Given the description of an element on the screen output the (x, y) to click on. 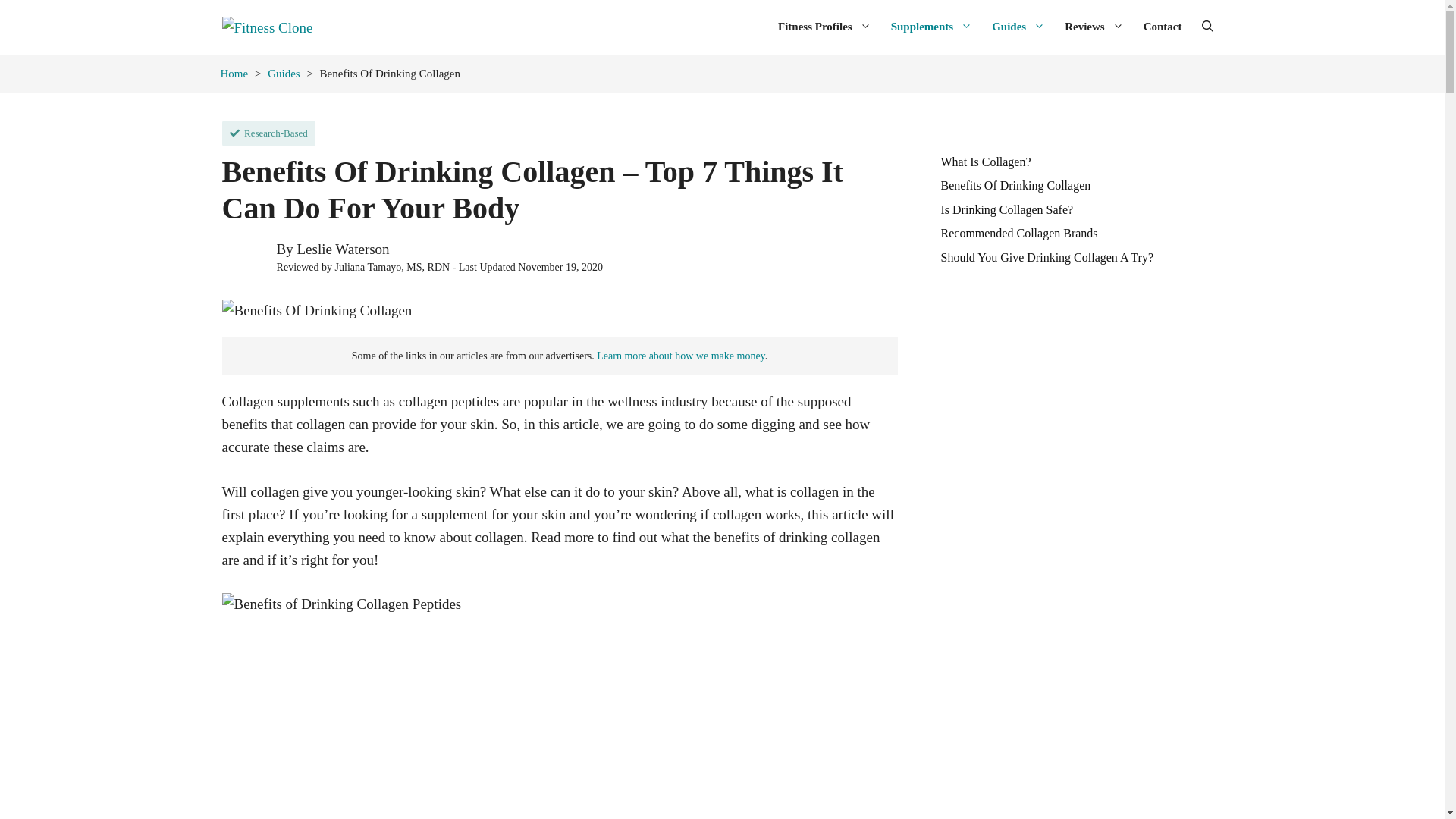
Is Drinking Collagen Safe? (1006, 209)
Fitness Profiles (824, 26)
Benefits Of Drinking Collagen (1015, 185)
Reviews (1094, 26)
What Is Collagen? (985, 162)
Supplements (931, 26)
Recommended Collagen Brands (1018, 233)
Guides (1017, 26)
